Given the description of an element on the screen output the (x, y) to click on. 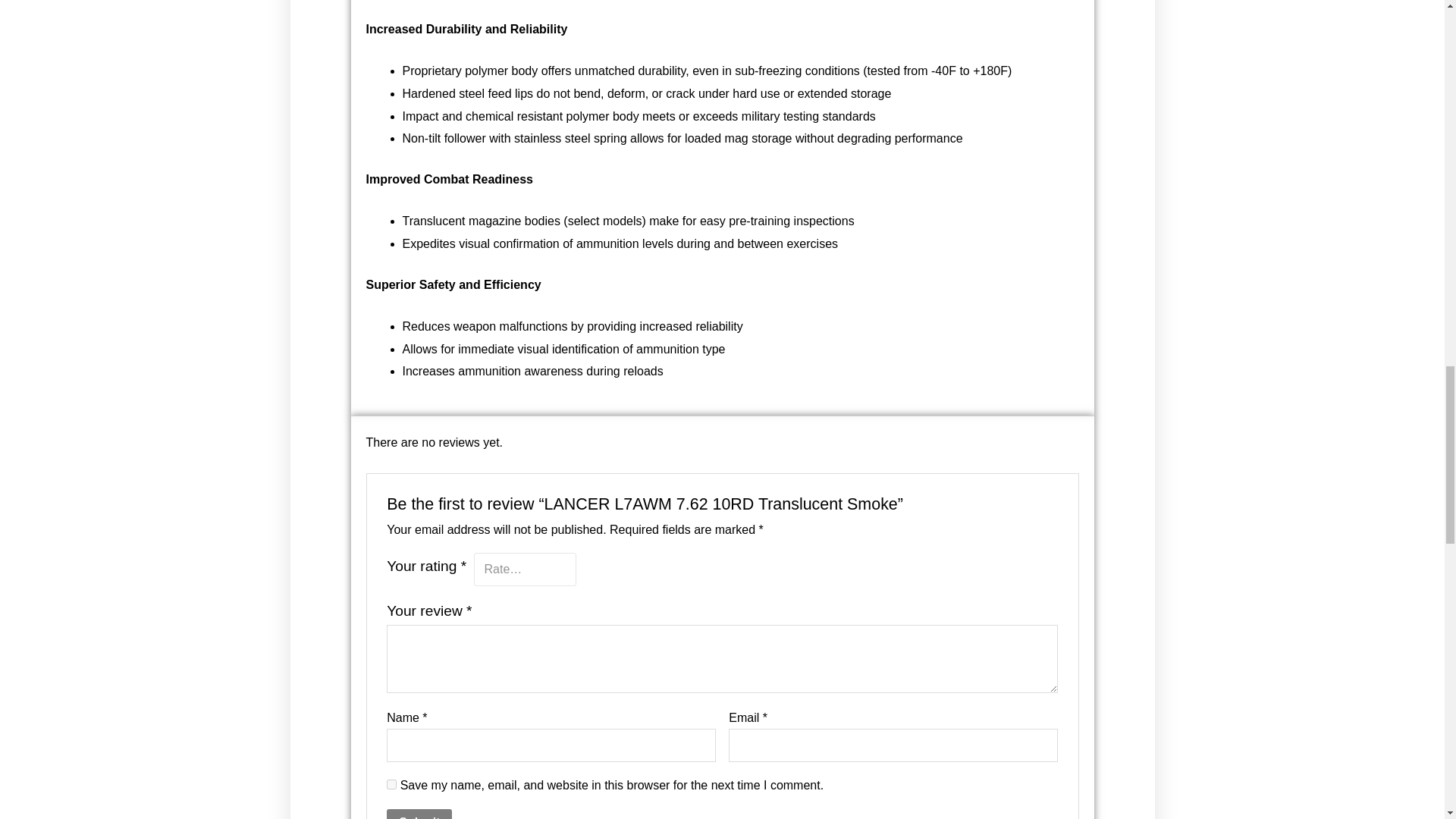
yes (391, 784)
Submit (419, 814)
